Given the description of an element on the screen output the (x, y) to click on. 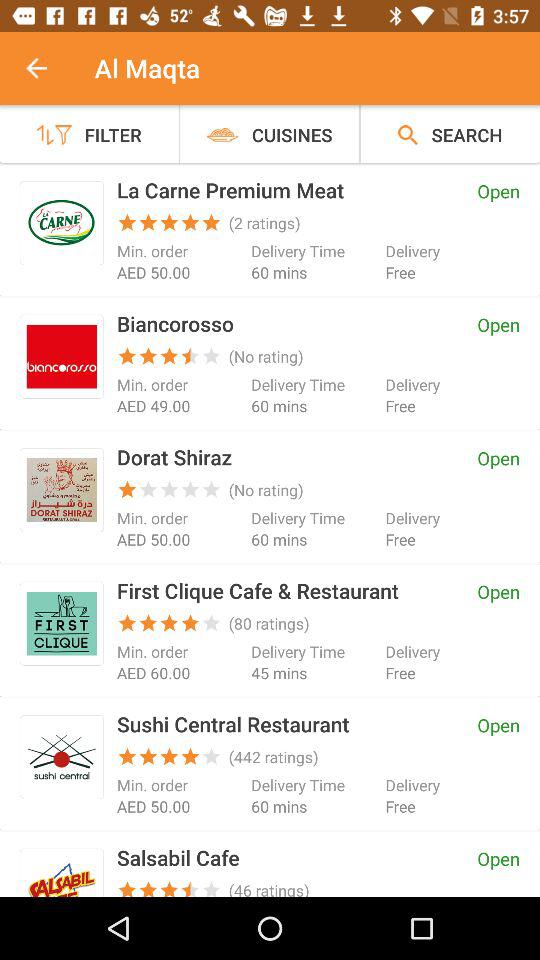
select this option (61, 623)
